Given the description of an element on the screen output the (x, y) to click on. 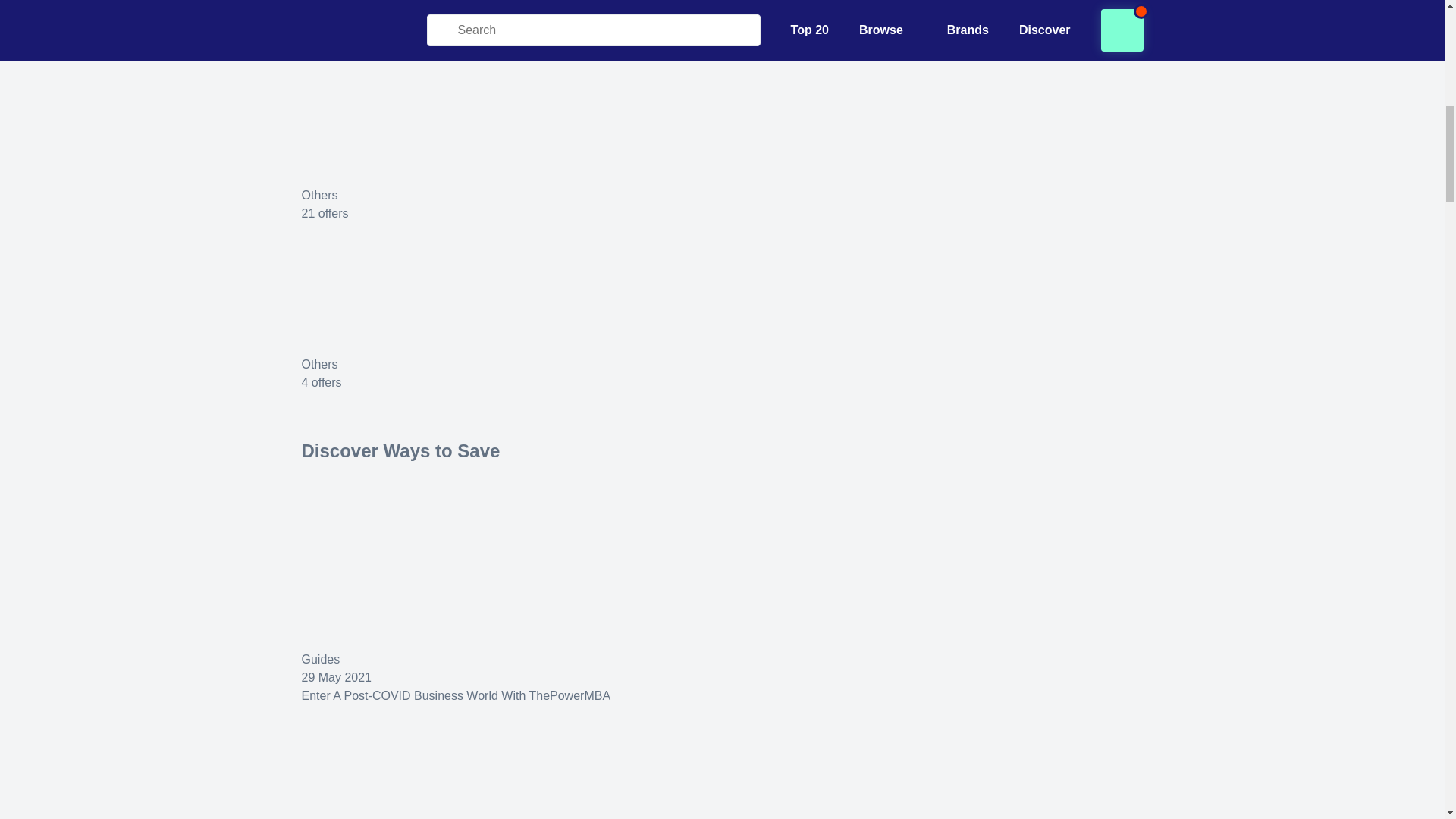
Enter A Post-COVID Business World With ThePowerMBA (456, 695)
Guides (320, 658)
Others (319, 364)
Others (319, 195)
Others (319, 25)
